Given the description of an element on the screen output the (x, y) to click on. 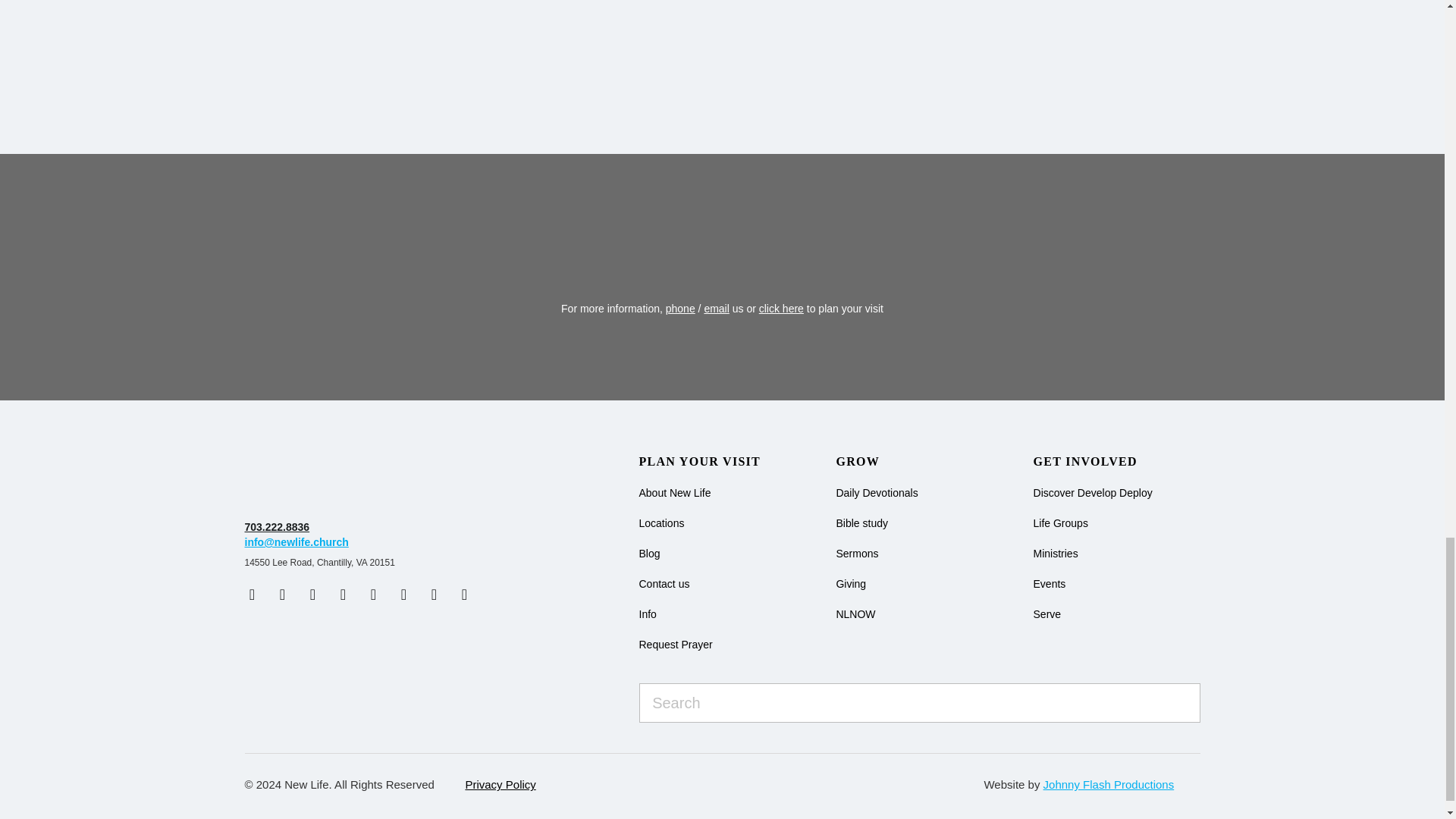
image 13 (338, 479)
email (716, 308)
phone (680, 308)
